Given the description of an element on the screen output the (x, y) to click on. 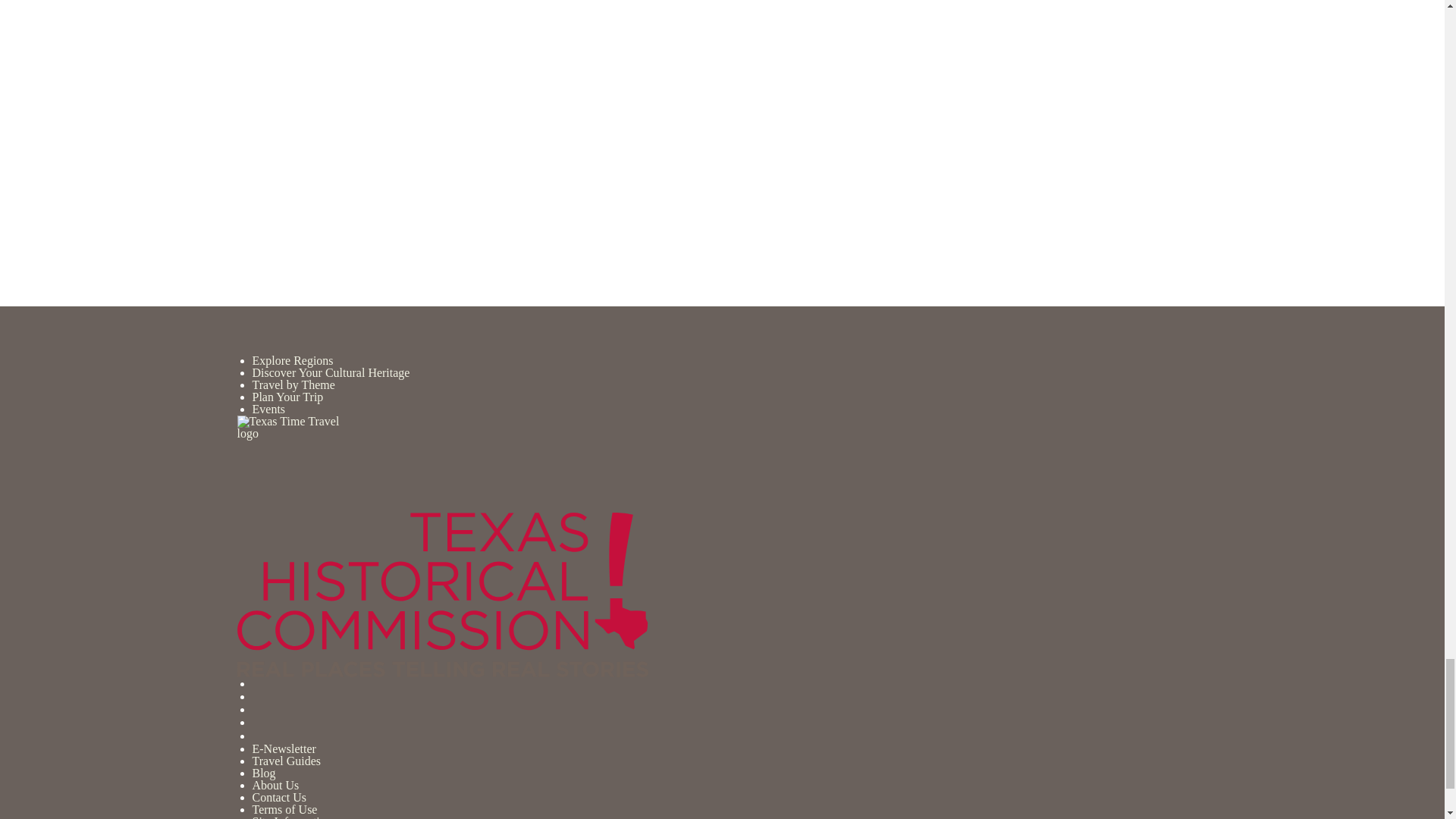
Discover Your Cultural Heritage (330, 372)
Explore Regions (292, 359)
Travel by Theme (292, 384)
